Given the description of an element on the screen output the (x, y) to click on. 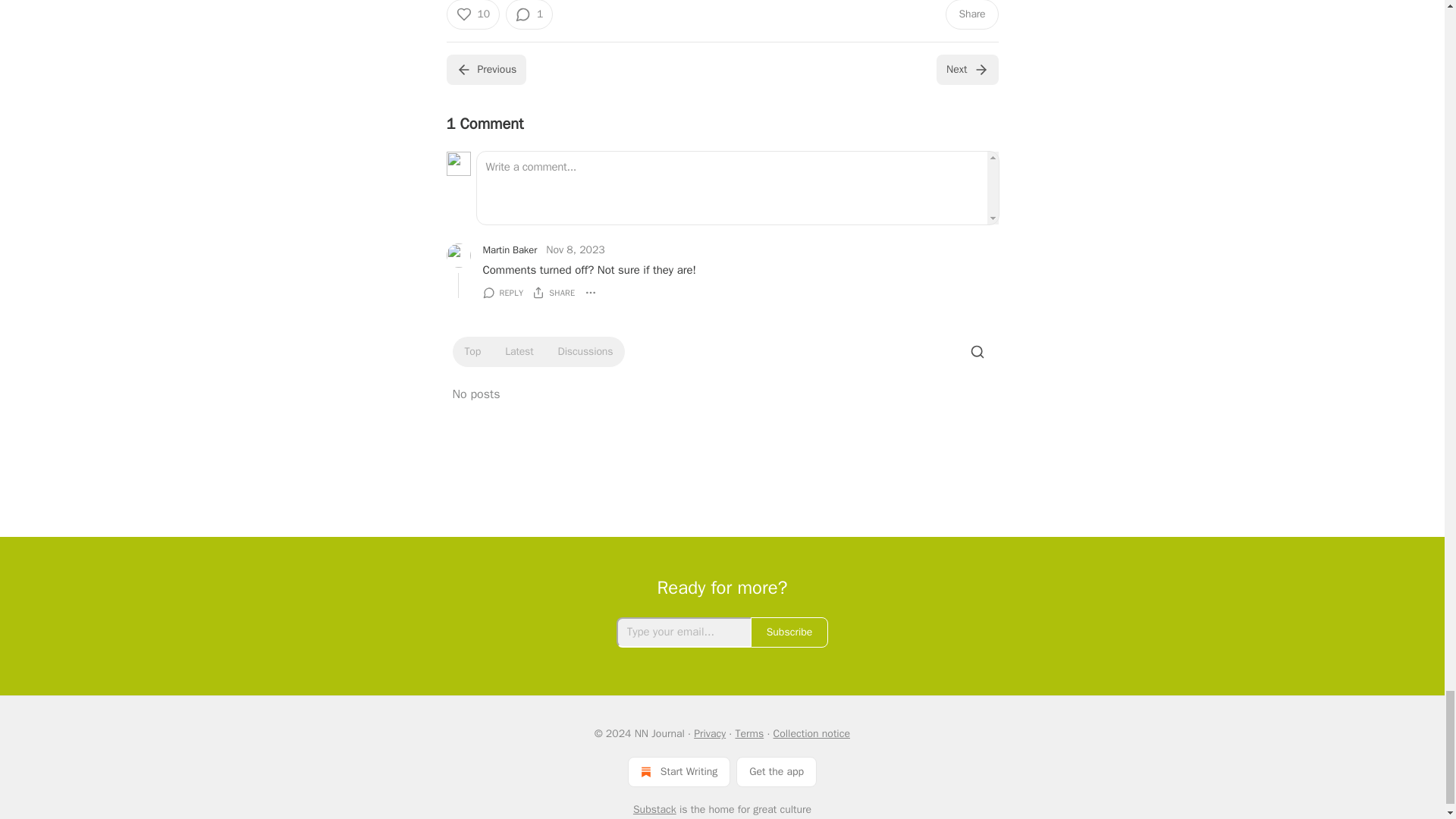
Previous (485, 69)
1 (529, 14)
Share (970, 14)
Next (966, 69)
10 (472, 14)
Nov 8, 2023 (575, 249)
REPLY (501, 292)
Martin Baker (509, 249)
